Given the description of an element on the screen output the (x, y) to click on. 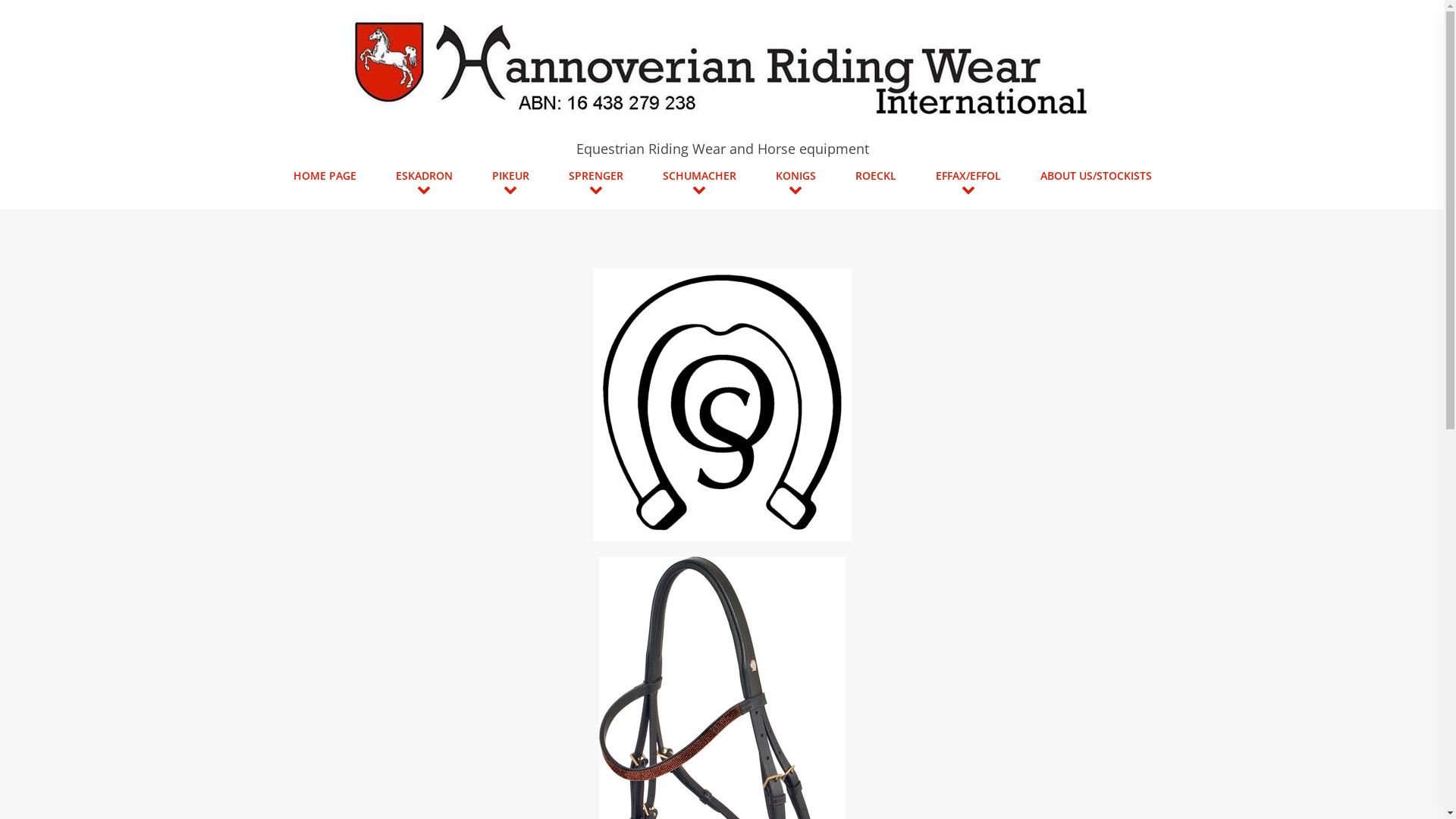
KONIGS Element type: text (795, 175)
SCHUMACHER Element type: text (698, 175)
ABOUT US/STOCKISTS Element type: text (1095, 175)
HOME PAGE Element type: text (324, 175)
ESKADRON Element type: text (423, 175)
EFFAX/EFFOL Element type: text (967, 175)
OS-Logo2 Element type: hover (722, 404)
ROECKL Element type: text (874, 175)
PIKEUR Element type: text (510, 175)
SPRENGER Element type: text (595, 175)
